Given the description of an element on the screen output the (x, y) to click on. 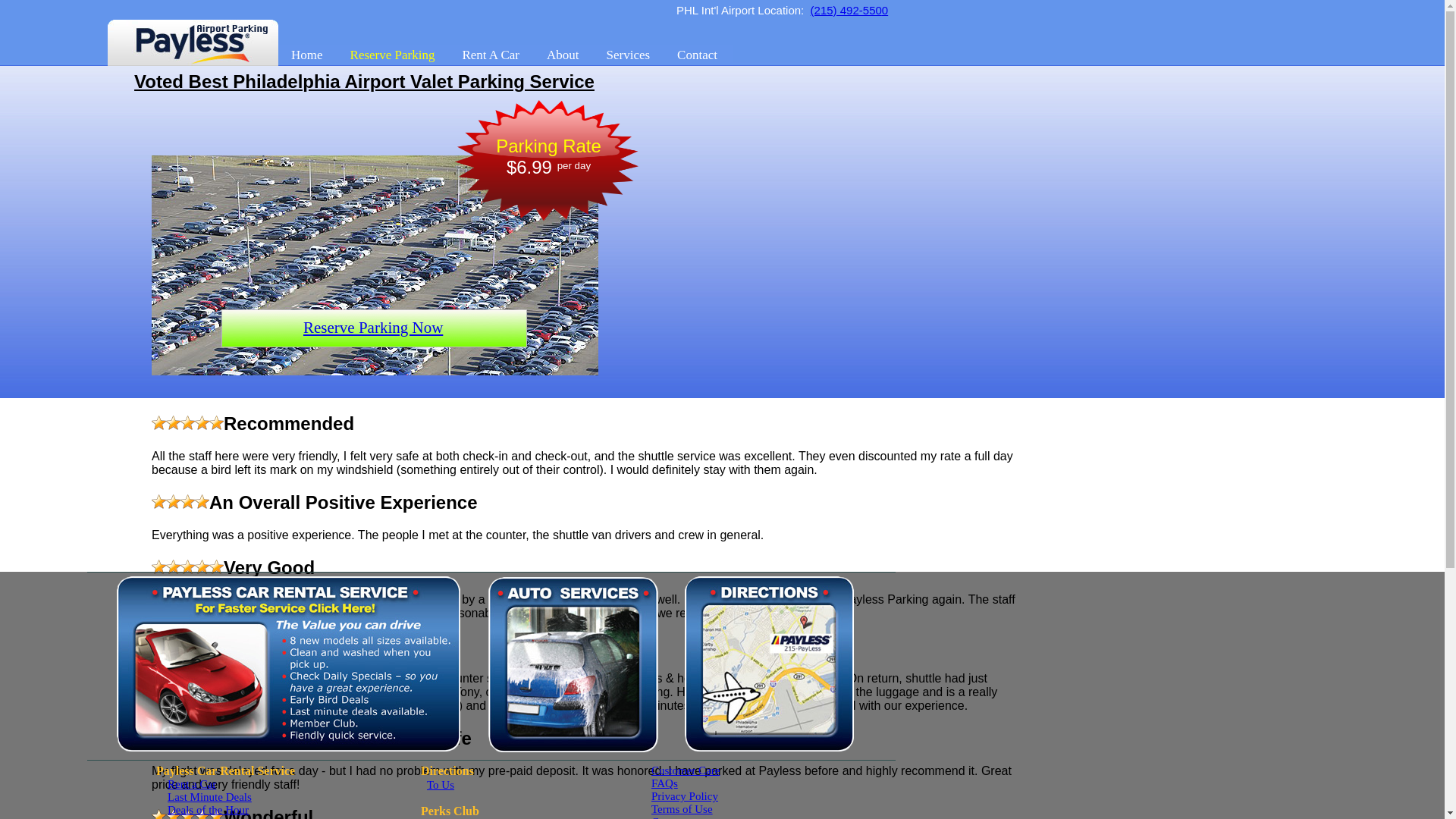
FAQs Element type: text (664, 783)
To Us Element type: text (440, 784)
Deals of the Hour Element type: text (207, 809)
(215) 492-550 Element type: text (845, 9)
0 Element type: text (884, 9)
Rent a Car Element type: text (191, 784)
Customer Care Element type: text (685, 770)
Last Minute Deals Element type: text (209, 796)
Privacy Policy Element type: text (684, 796)
Terms of Use Element type: text (681, 809)
Reserve Parking Now Element type: text (372, 327)
